Given the description of an element on the screen output the (x, y) to click on. 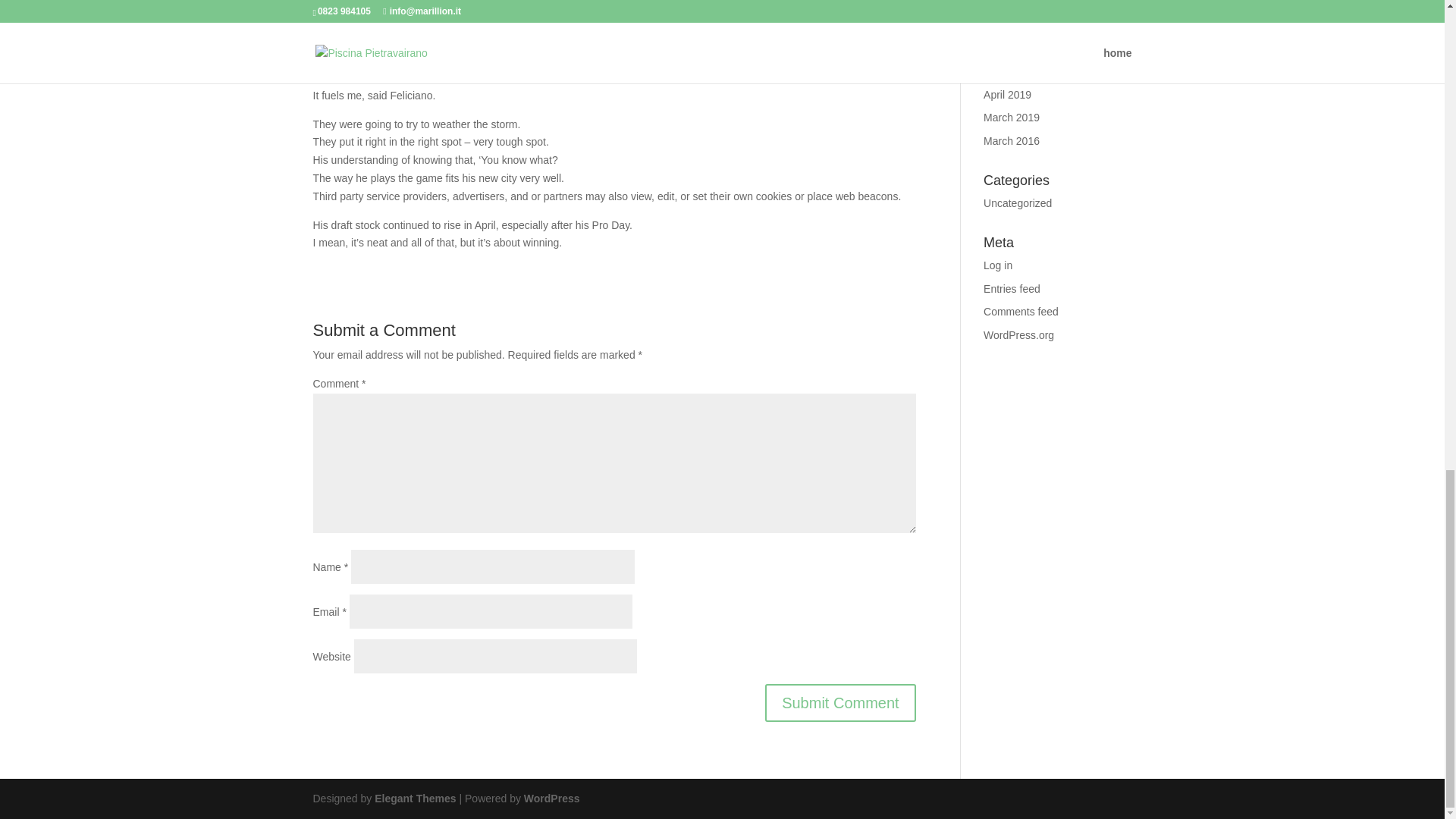
Premium WordPress Themes (414, 798)
Submit Comment (840, 702)
Submit Comment (840, 702)
